Given the description of an element on the screen output the (x, y) to click on. 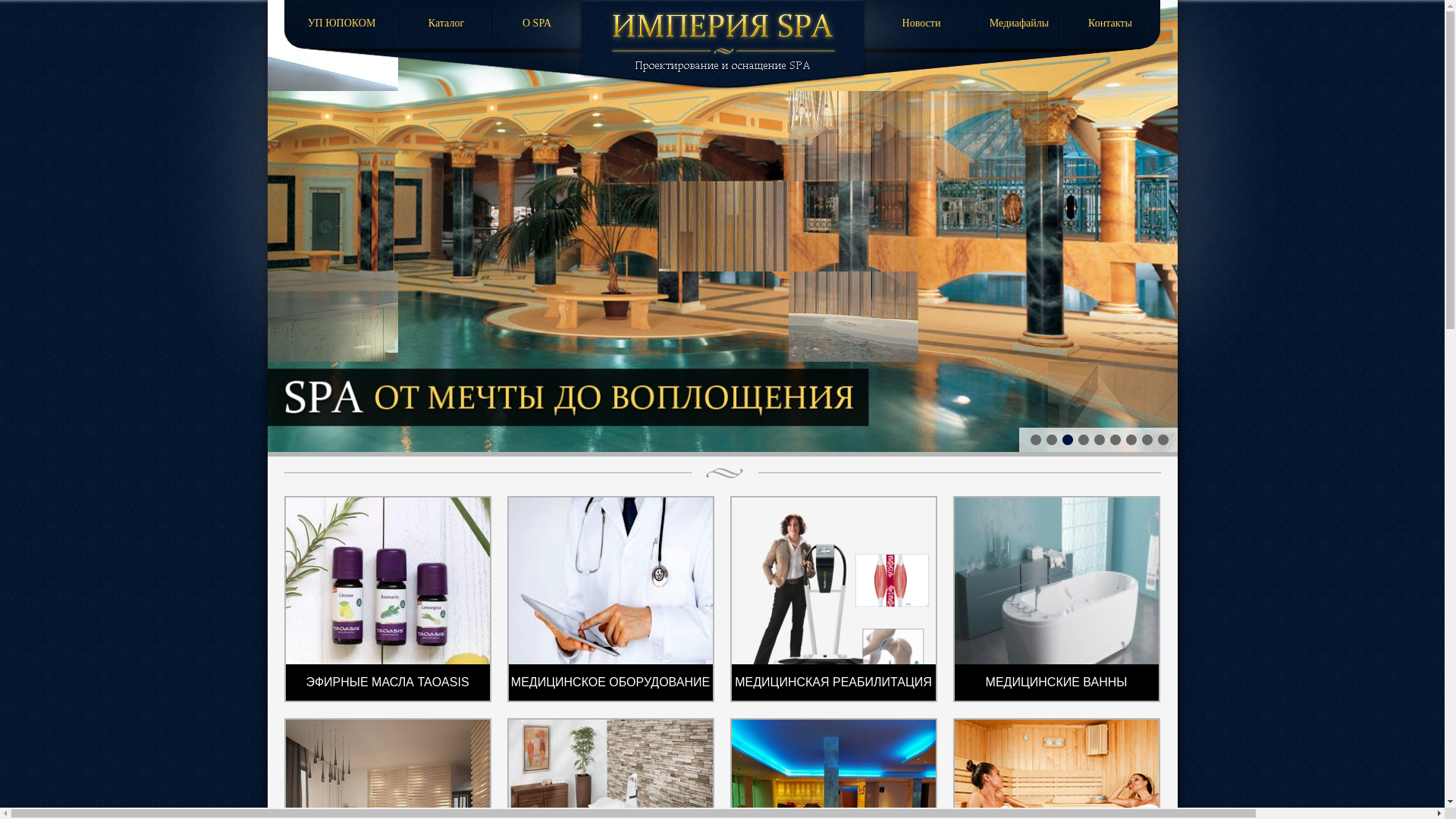
9 Element type: text (1162, 439)
1 Element type: text (1034, 439)
3 Element type: text (1066, 439)
2 Element type: text (1051, 439)
8 Element type: text (1147, 439)
5 Element type: text (1098, 439)
4 Element type: text (1083, 439)
6 Element type: text (1115, 439)
7 Element type: text (1130, 439)
